Given the description of an element on the screen output the (x, y) to click on. 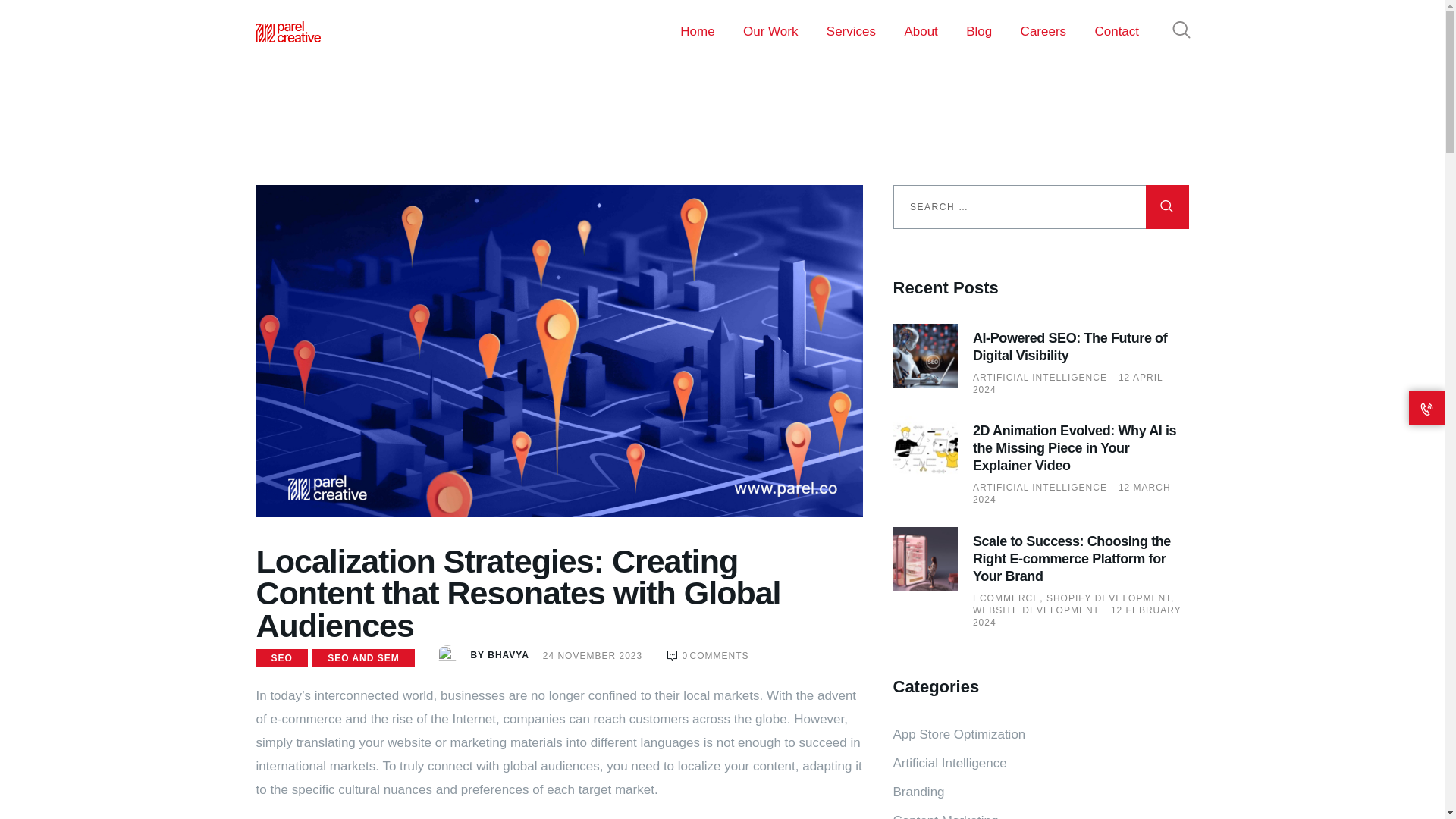
Contact (1116, 31)
Our Work (770, 31)
Careers (1043, 31)
Blog (979, 31)
Search (1166, 207)
About (920, 31)
Search (1166, 207)
View all posts in Website Development (1035, 610)
Services (850, 31)
View all posts in Artificial Intelligence (1039, 377)
Home (697, 31)
View all posts in Shopify Development (1109, 597)
View all posts in Ecommerce (1009, 597)
View all posts in Artificial Intelligence (1039, 487)
